Given the description of an element on the screen output the (x, y) to click on. 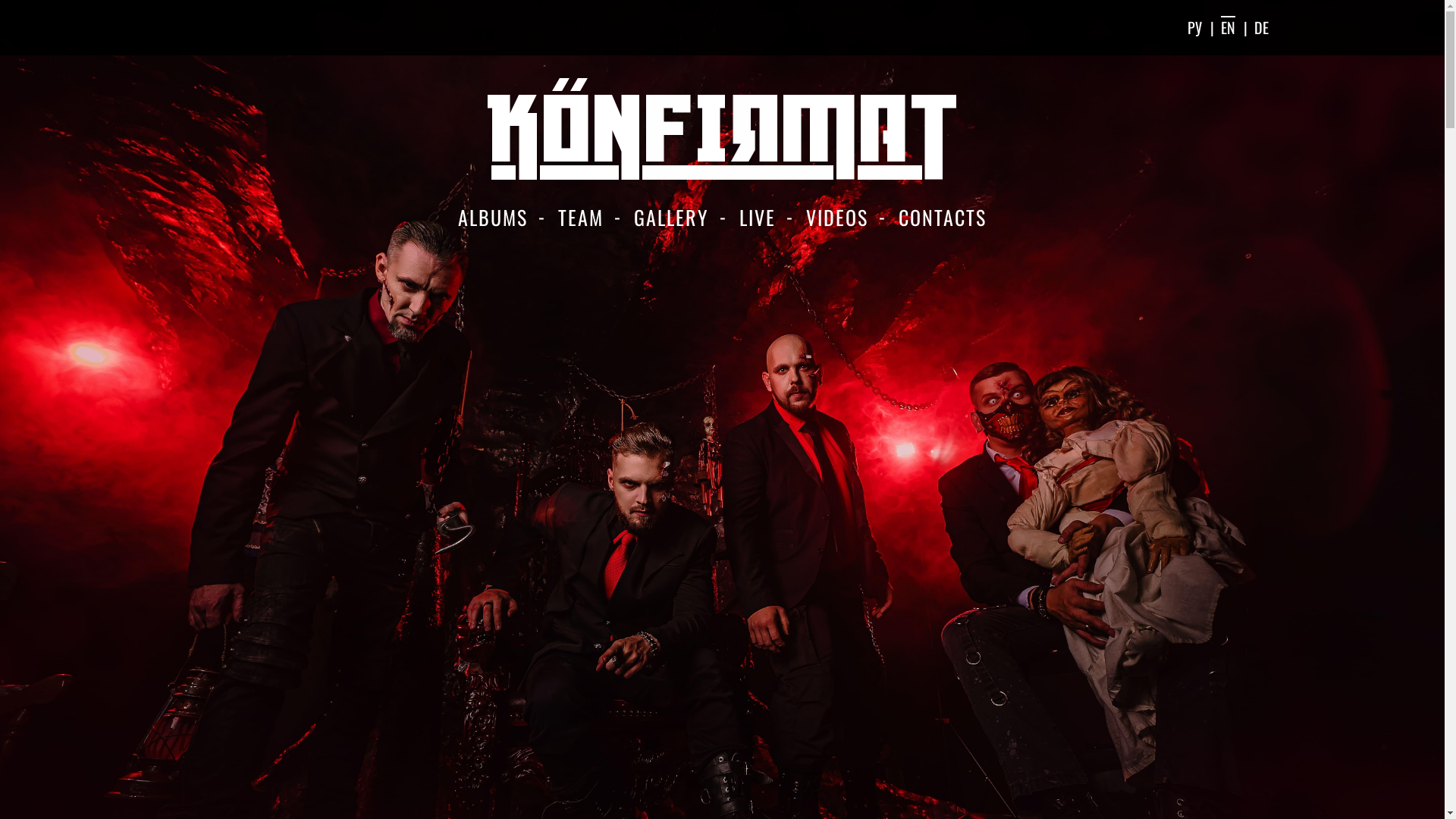
EN Element type: text (1227, 27)
VIDEOS Element type: text (837, 217)
ALBUMS Element type: text (492, 217)
GALLERY Element type: text (671, 217)
DE Element type: text (1261, 27)
LIVE Element type: text (757, 217)
CONTACTS Element type: text (942, 217)
TEAM Element type: text (580, 217)
